Given the description of an element on the screen output the (x, y) to click on. 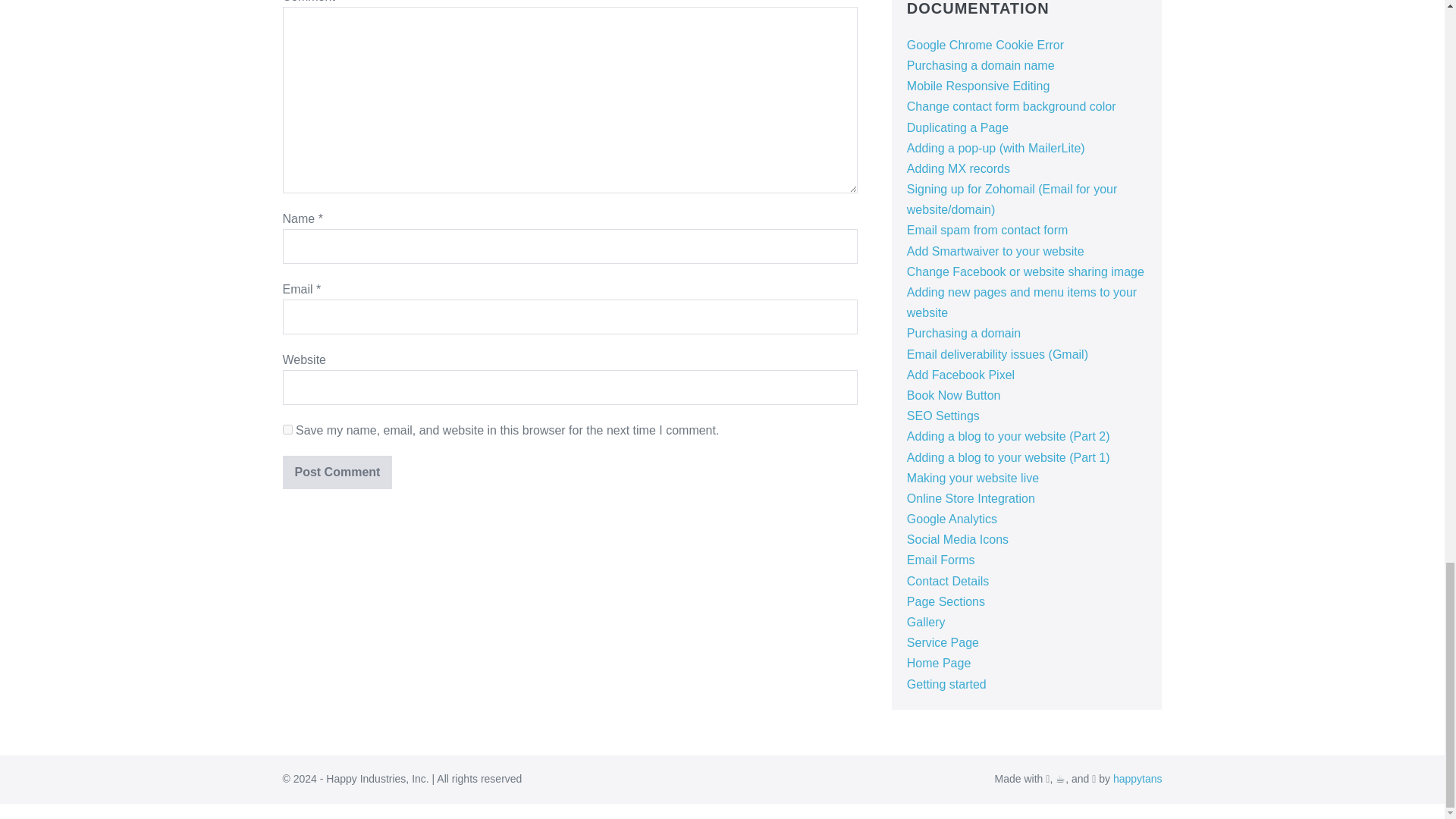
yes (287, 429)
Post Comment (336, 471)
Post Comment (336, 471)
